Given the description of an element on the screen output the (x, y) to click on. 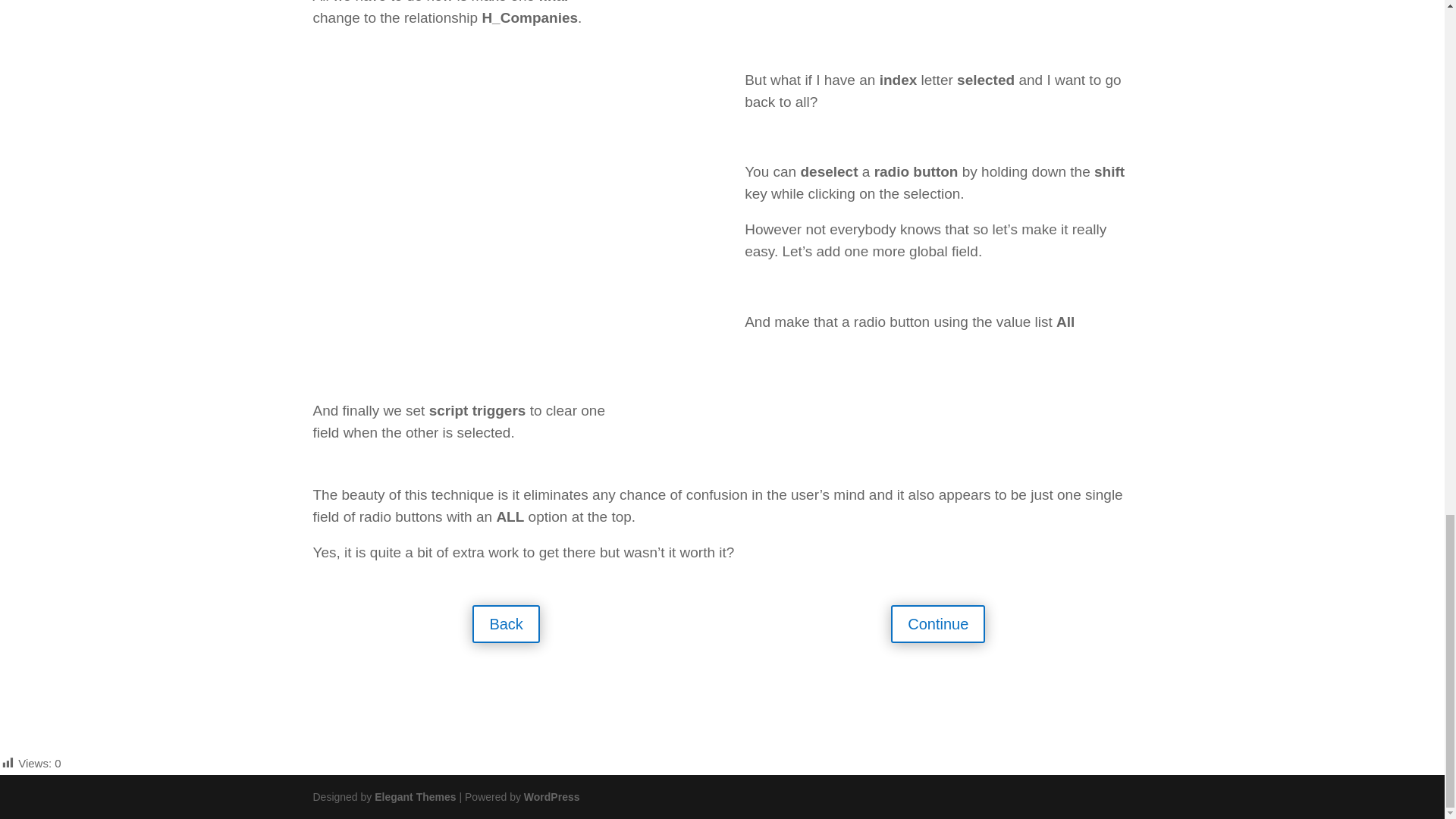
Elegant Themes (414, 797)
Continue (938, 623)
Click Here (363, 683)
WordPress (551, 797)
Back (504, 623)
